Given the description of an element on the screen output the (x, y) to click on. 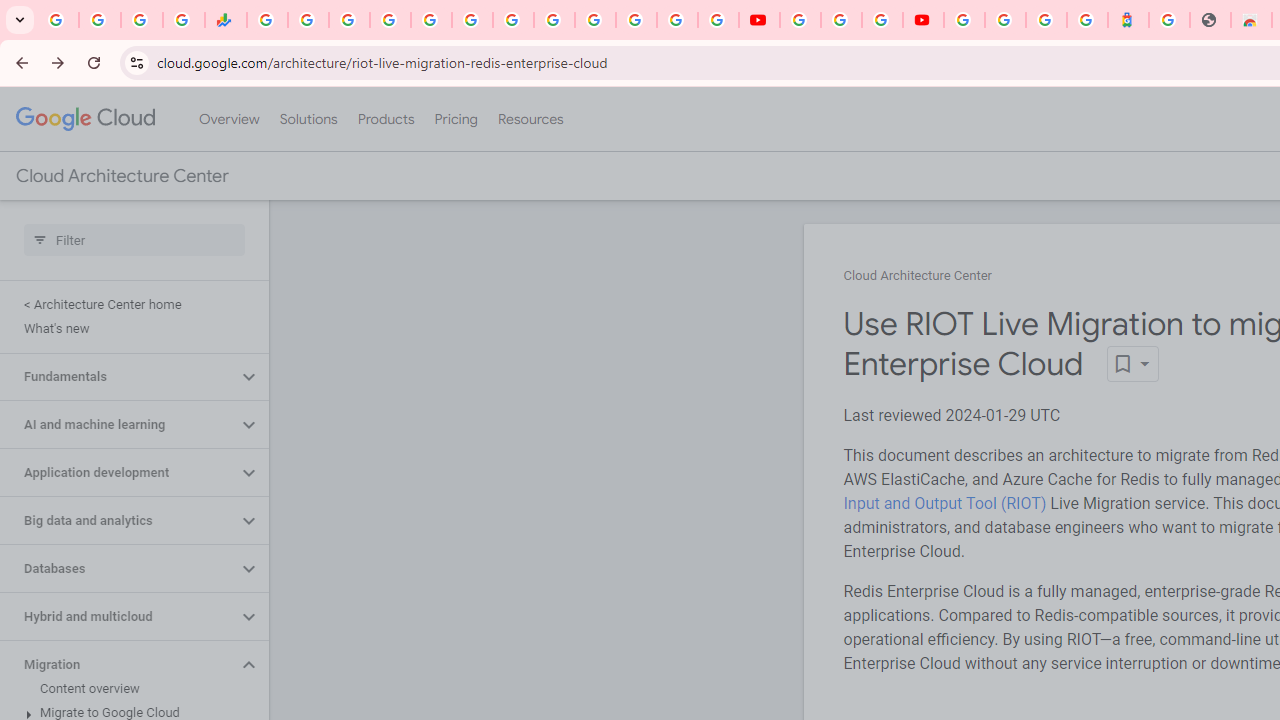
Sign in - Google Accounts (594, 20)
Type to filter (134, 239)
Content overview (130, 688)
Application development (118, 472)
Fundamentals (118, 376)
Cloud Architecture Center (917, 276)
